Given the description of an element on the screen output the (x, y) to click on. 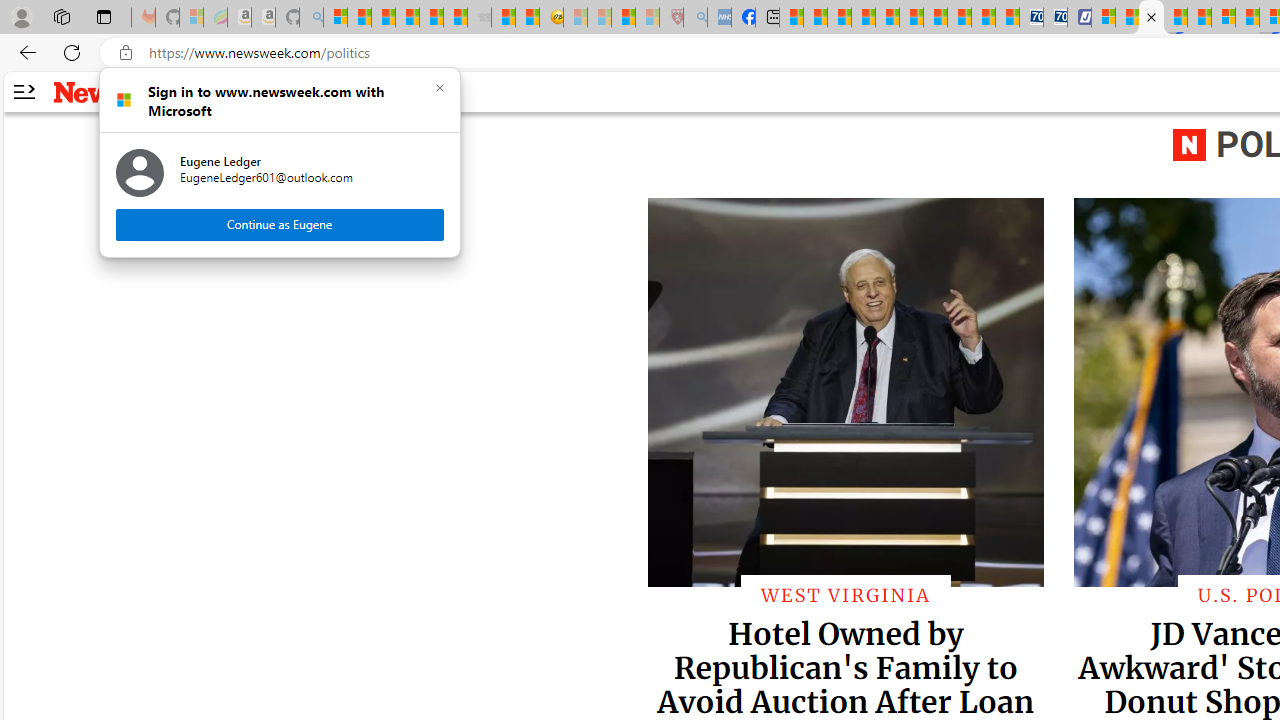
WEST VIRGINIA (845, 594)
Climate Damage Becomes Too Severe To Reverse (863, 17)
